Given the description of an element on the screen output the (x, y) to click on. 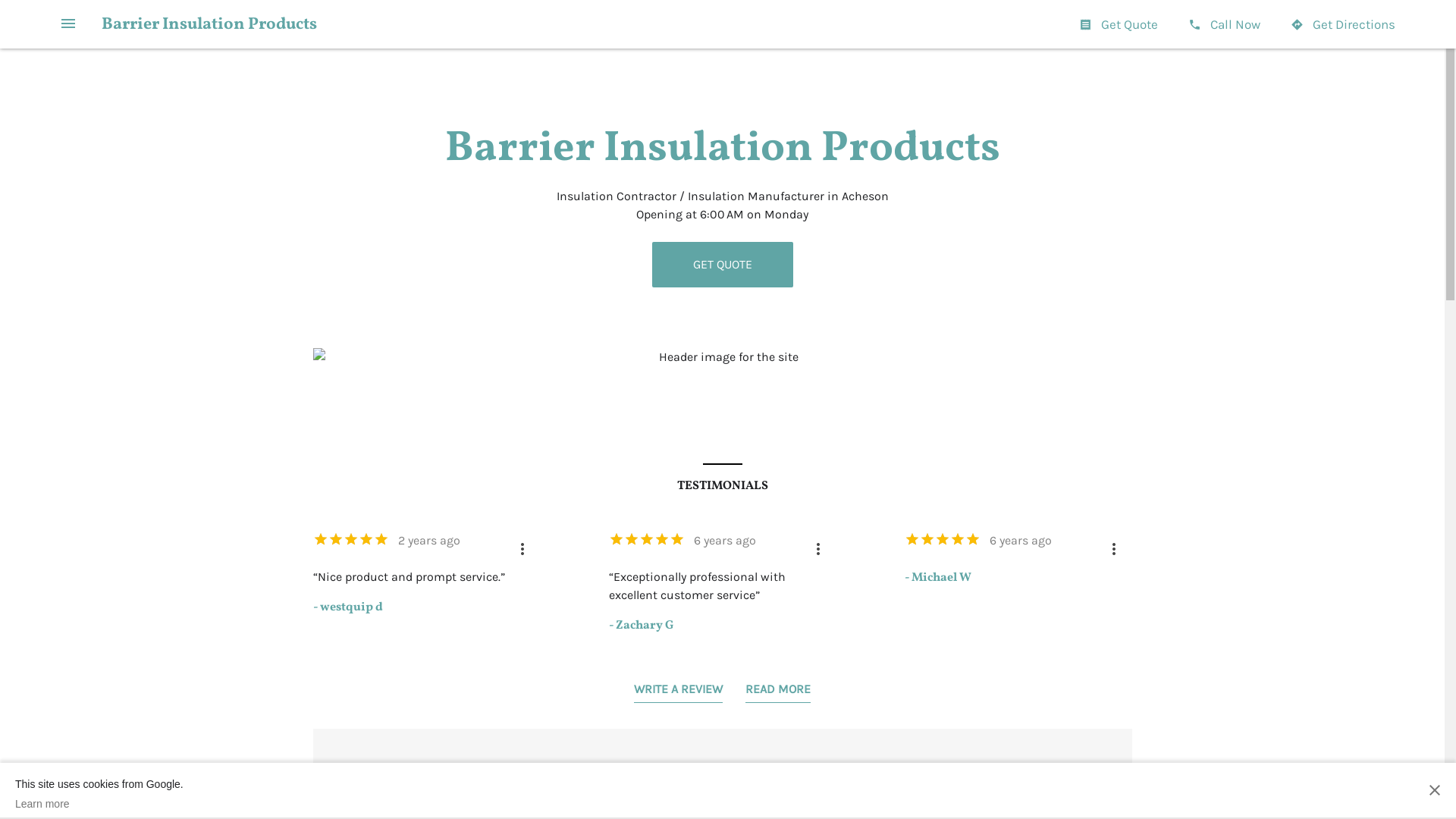
GET QUOTE Element type: text (722, 264)
Learn more Element type: text (99, 803)
Barrier Insulation Products Element type: text (208, 23)
READ MORE Element type: text (777, 691)
WRITE A REVIEW Element type: text (677, 691)
